Given the description of an element on the screen output the (x, y) to click on. 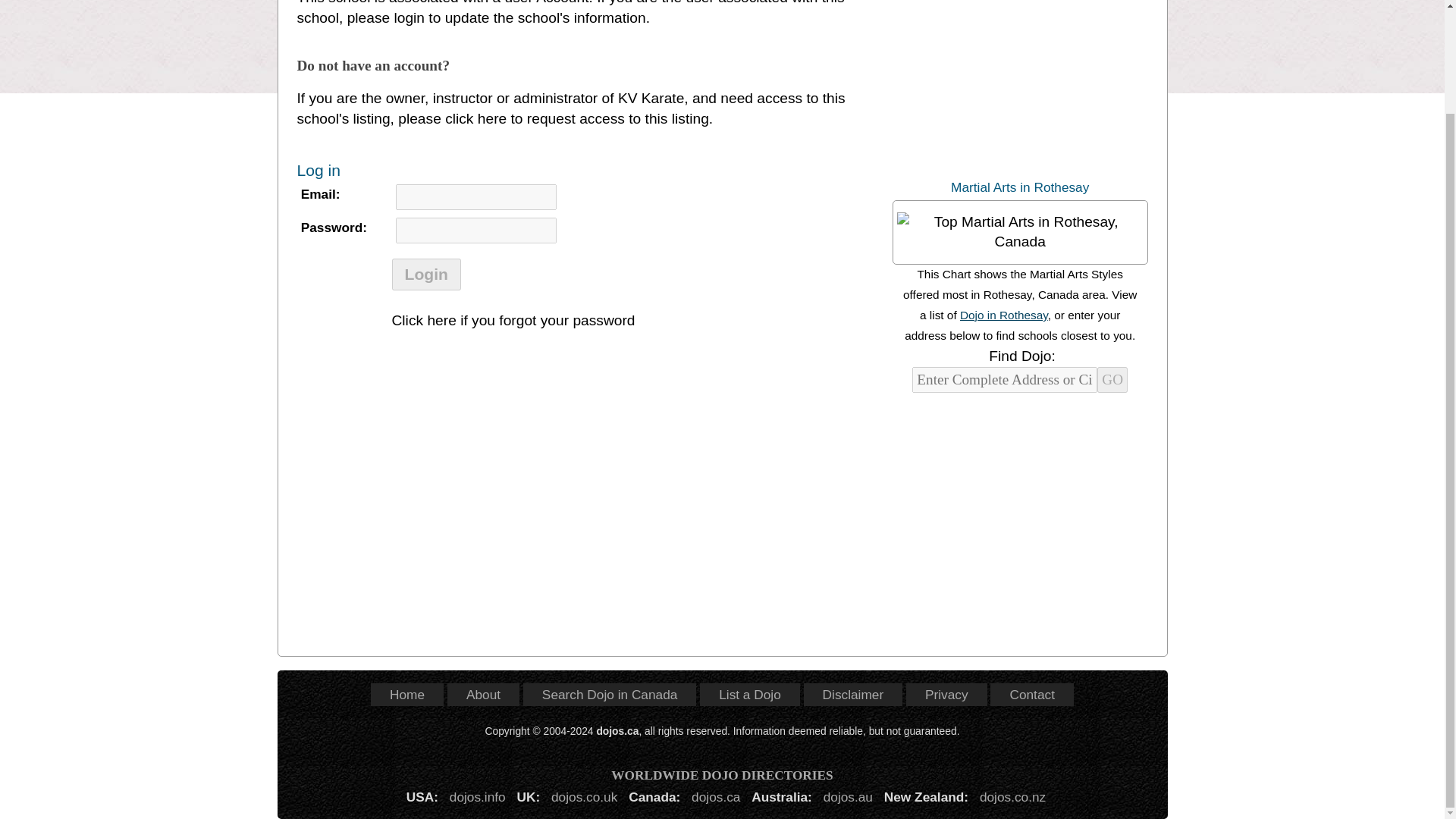
click here (475, 118)
Login (425, 274)
Click here if you forgot your password (512, 320)
About (482, 694)
Home (407, 694)
List a Dojo (749, 694)
Disclaimer (852, 694)
Search Dojo in Canada (609, 694)
Login (425, 274)
dojos.co.uk (584, 796)
